Given the description of an element on the screen output the (x, y) to click on. 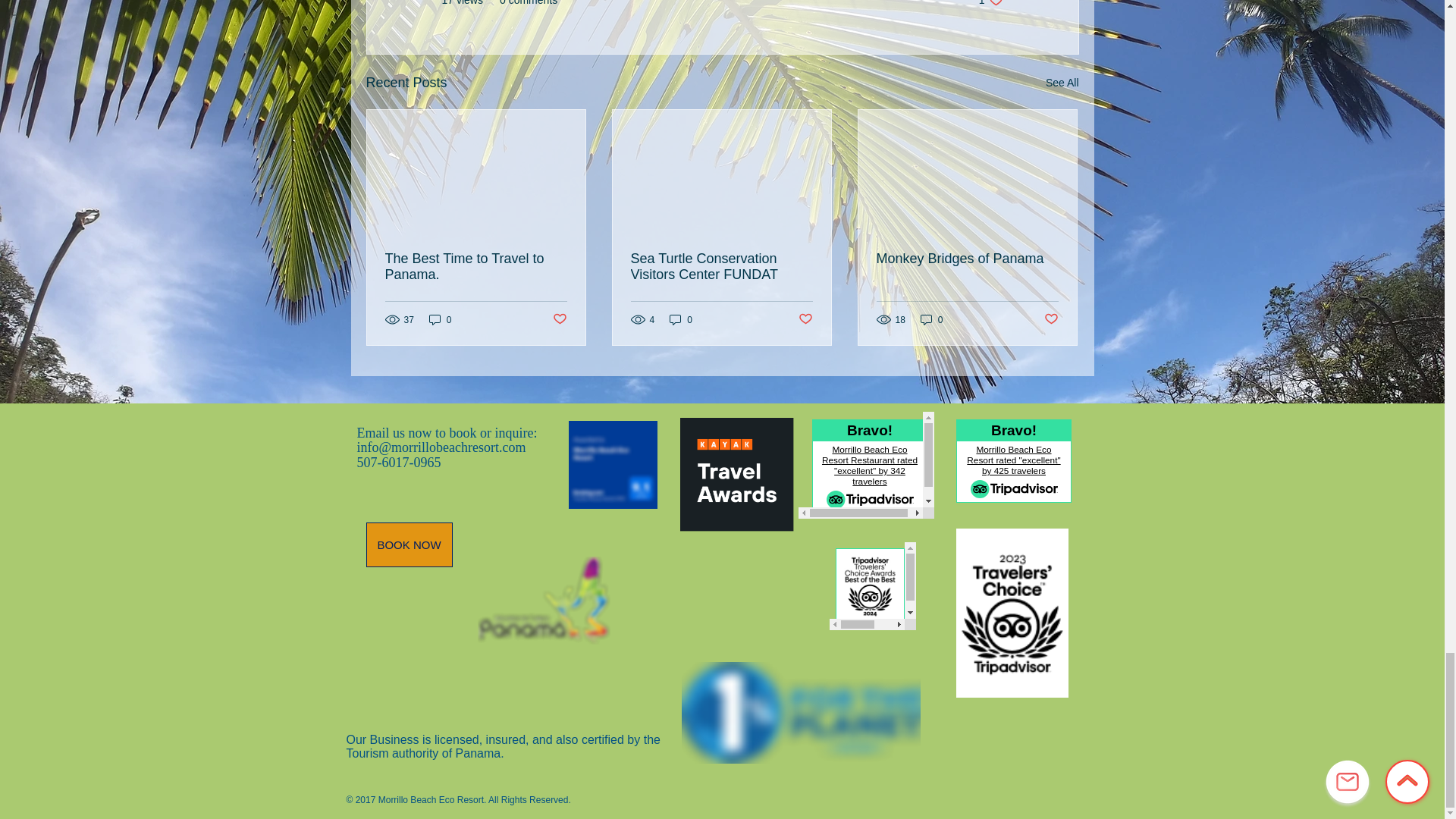
Approved by Panama Authority of Tourism (543, 600)
Best of the Best TripAdvisor Morrillo Beach Eco Resort (872, 585)
Embedded Content (1009, 464)
Embedded Content (734, 476)
Embedded Content (865, 464)
